Given the description of an element on the screen output the (x, y) to click on. 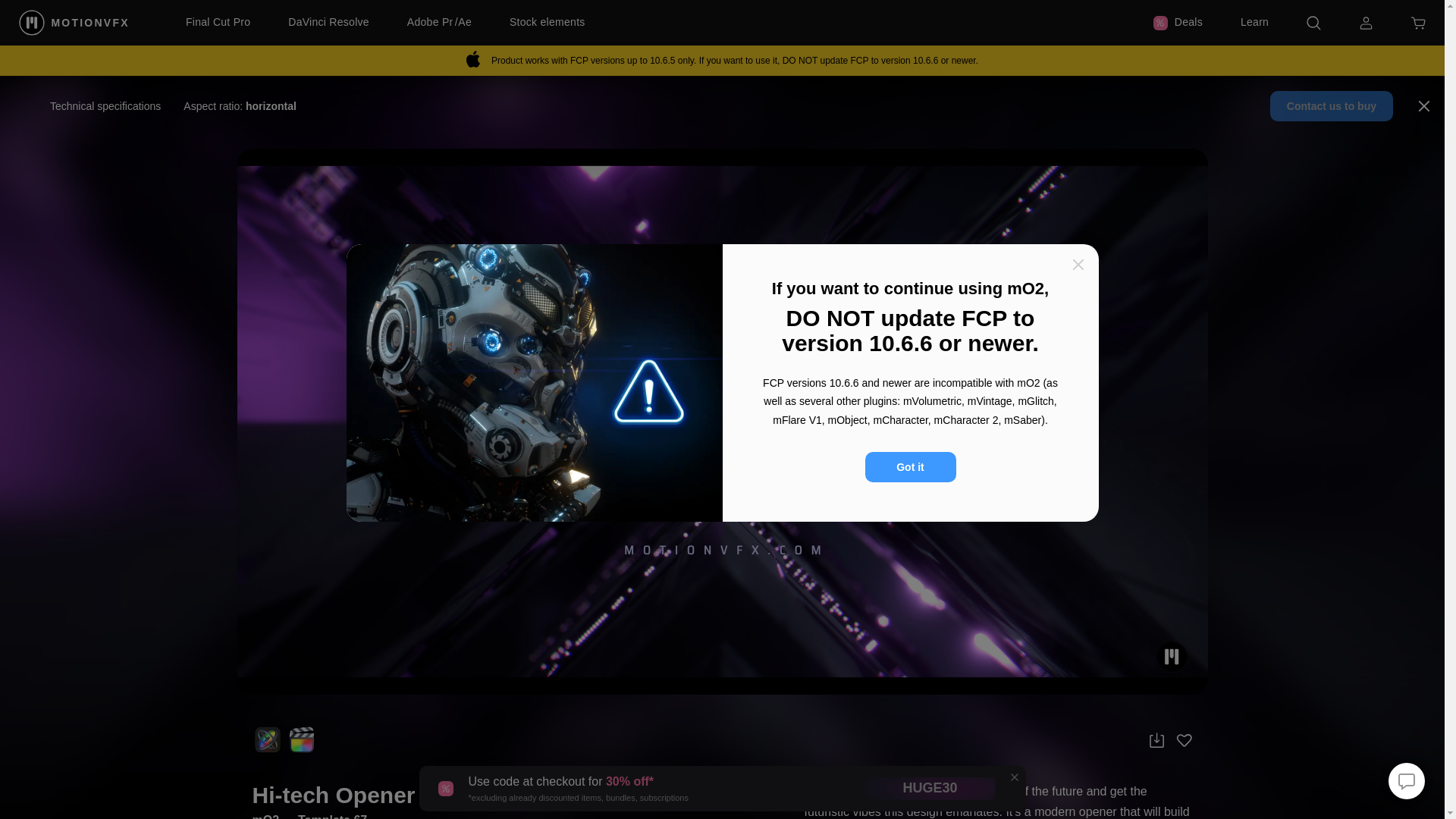
Stock elements (547, 22)
MOTIONVFX (75, 22)
Final Cut Pro (218, 22)
DaVinci Resolve (328, 22)
Deals (1177, 22)
